Given the description of an element on the screen output the (x, y) to click on. 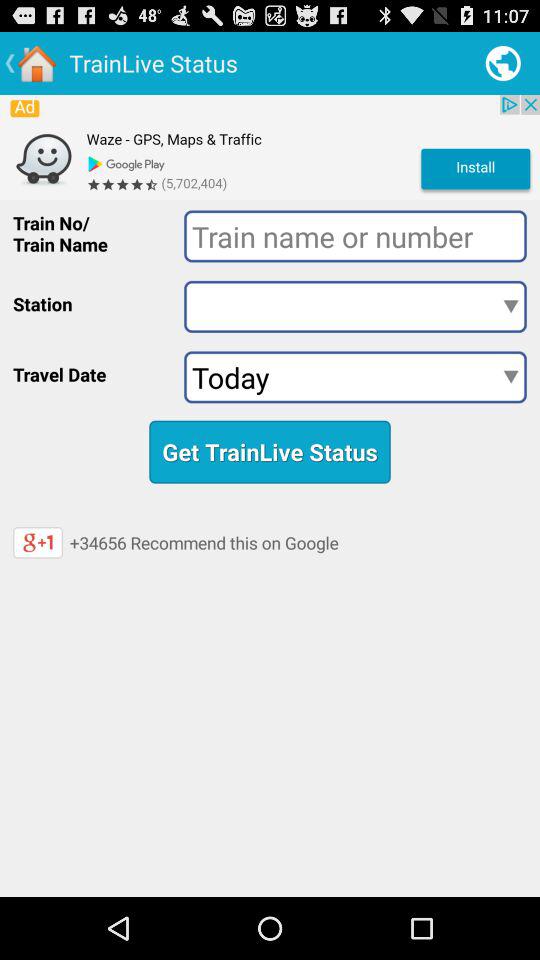
choose train station (355, 306)
